Given the description of an element on the screen output the (x, y) to click on. 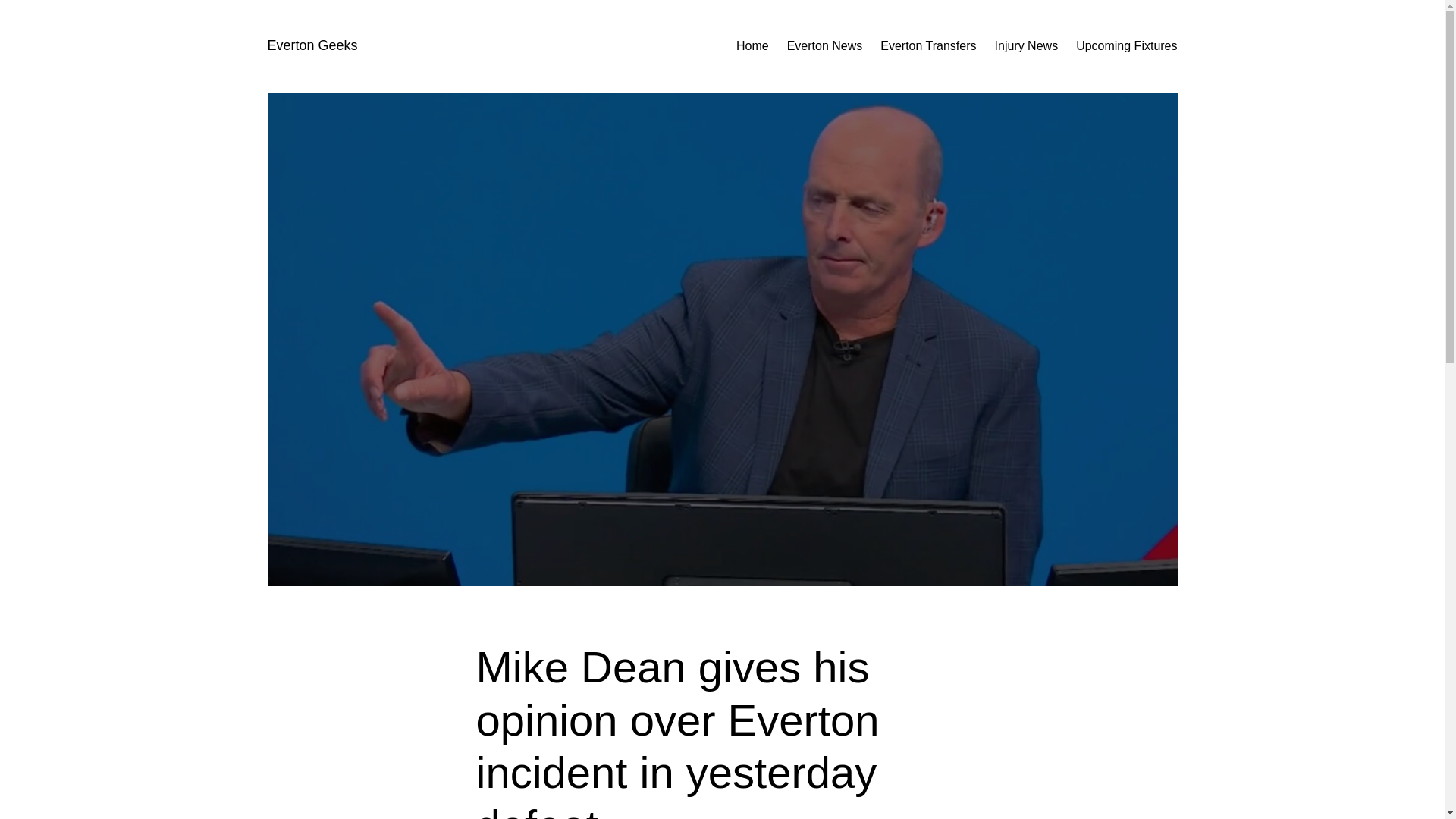
Everton Geeks (311, 45)
Everton Transfers (927, 46)
Everton News (825, 46)
Upcoming Fixtures (1125, 46)
Injury News (1026, 46)
Home (752, 46)
